Given the description of an element on the screen output the (x, y) to click on. 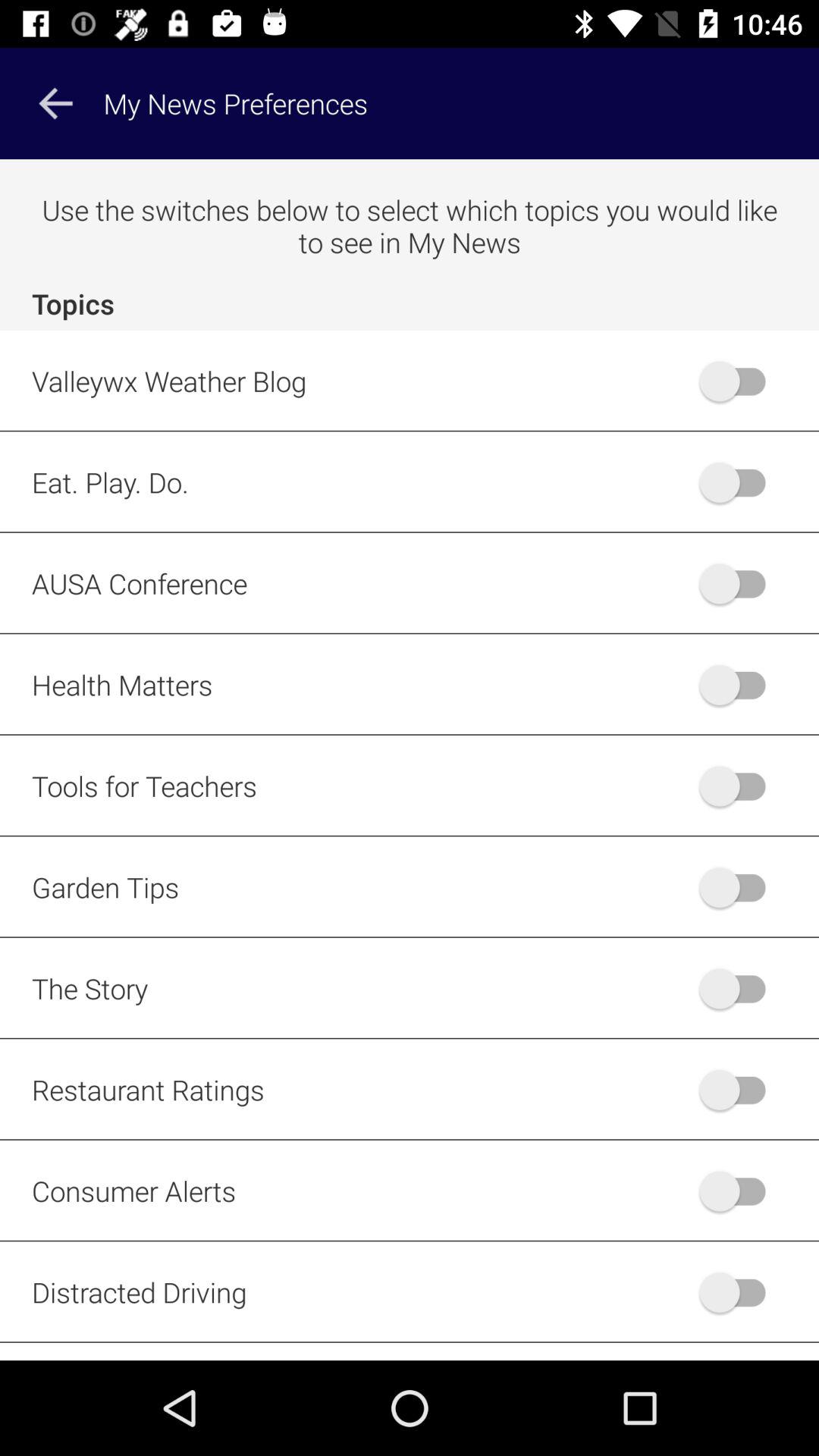
go back (55, 103)
